Given the description of an element on the screen output the (x, y) to click on. 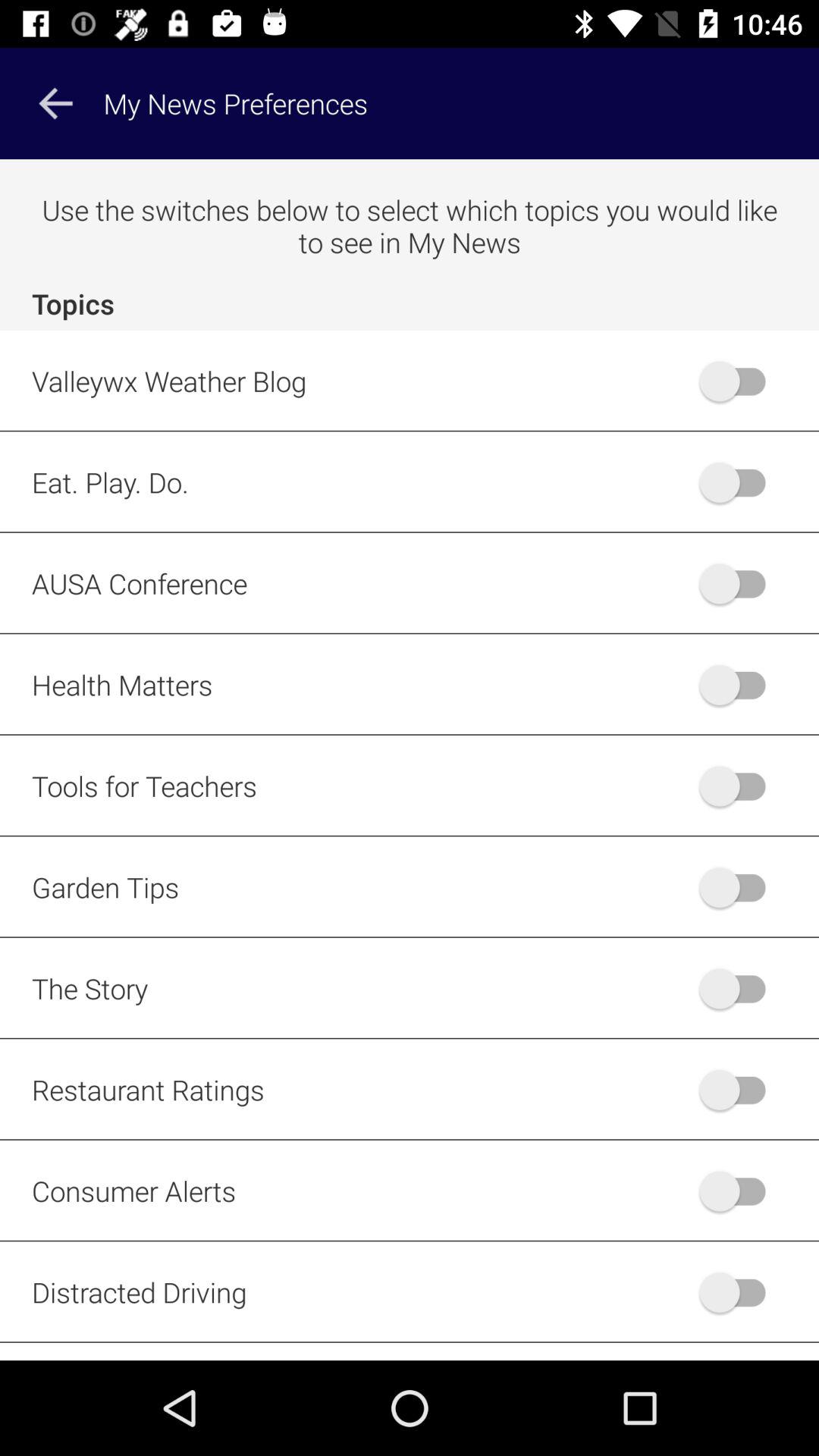
go back (55, 103)
